Given the description of an element on the screen output the (x, y) to click on. 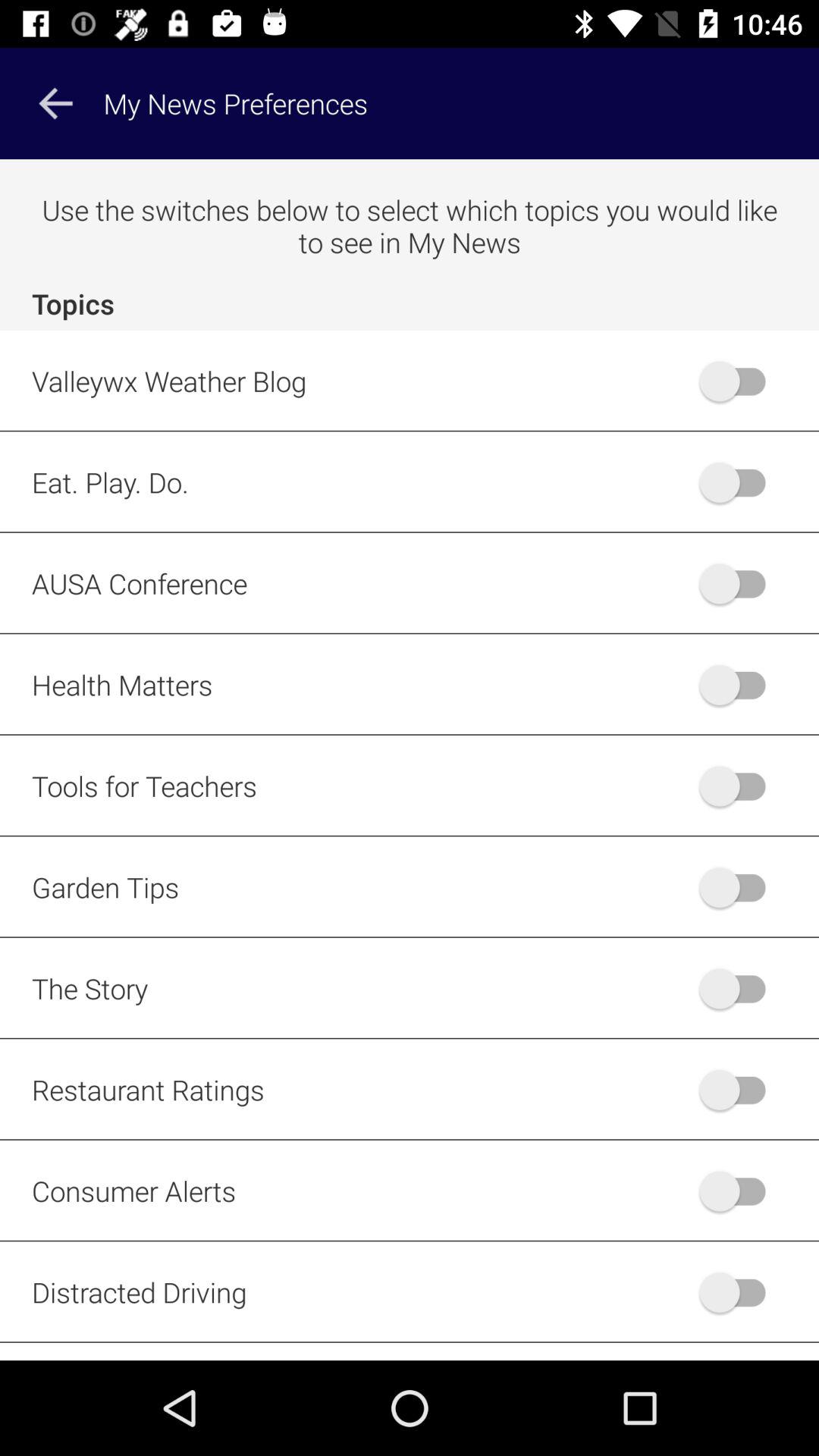
go back (55, 103)
